Given the description of an element on the screen output the (x, y) to click on. 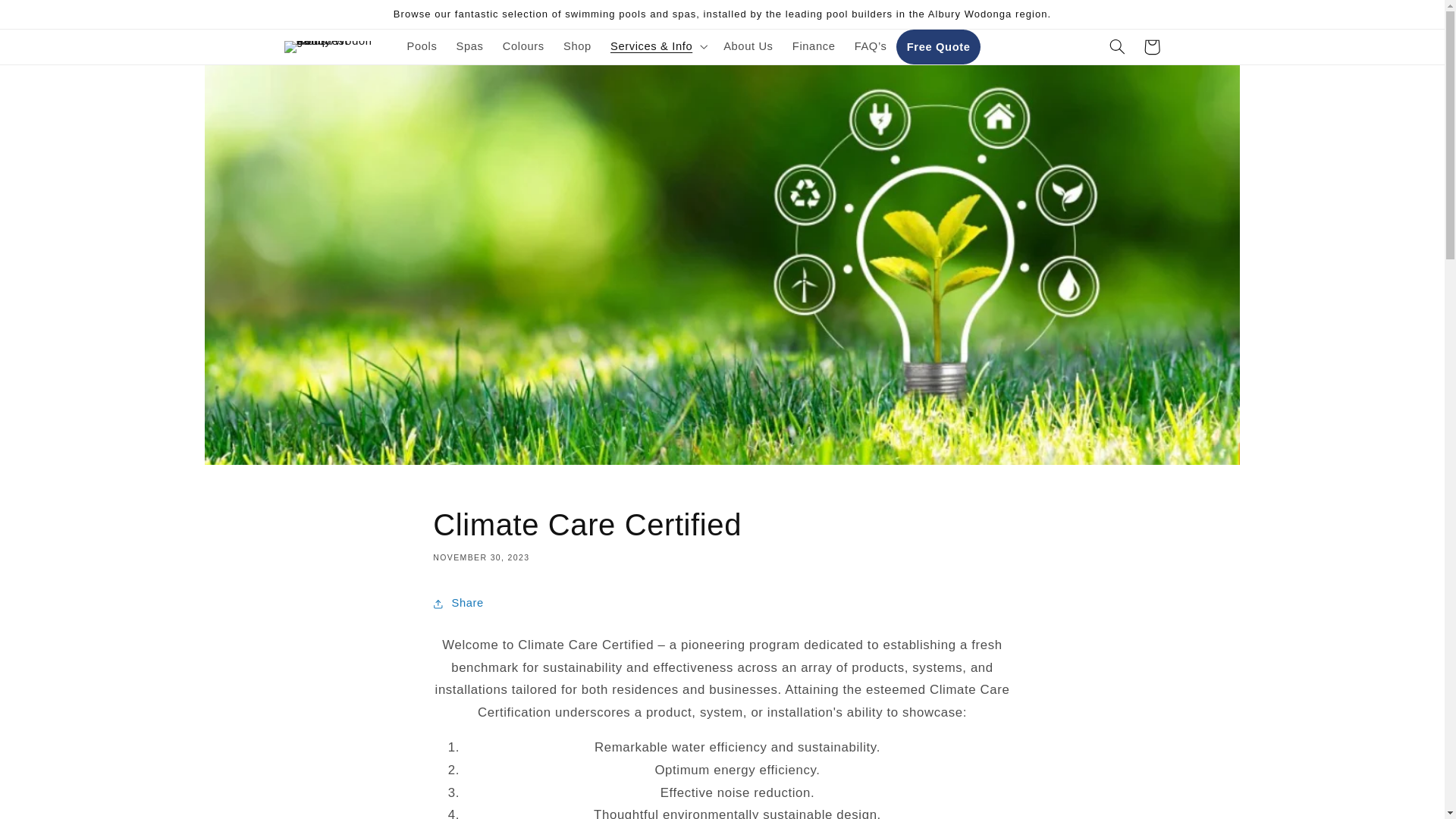
About Us (748, 46)
Shop (576, 46)
Spas (469, 46)
Free Quote (937, 46)
Finance (813, 46)
Cart (1151, 46)
Colours (523, 46)
Skip to content (48, 18)
Pools (421, 46)
